Given the description of an element on the screen output the (x, y) to click on. 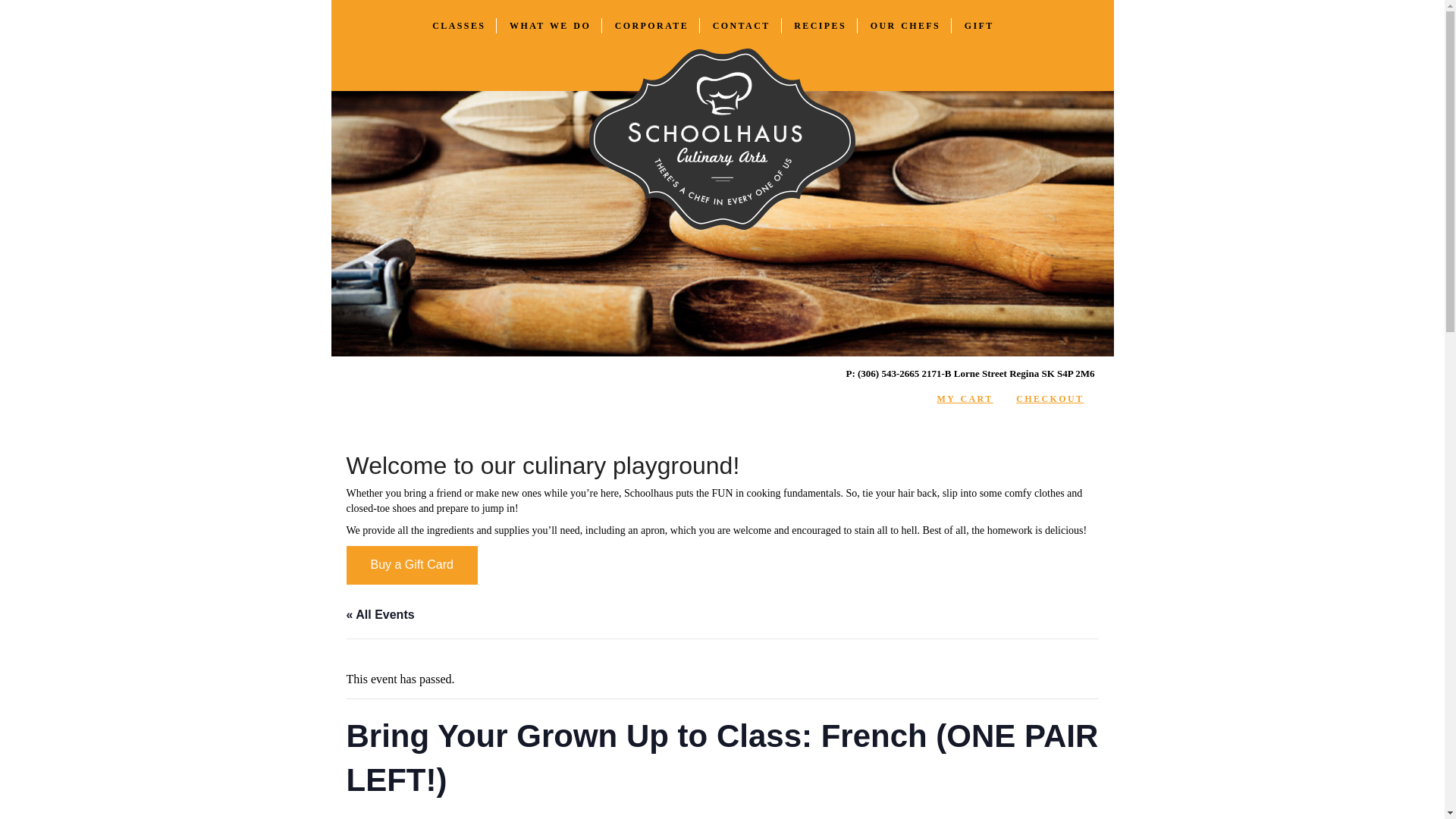
RECIPES (825, 25)
CORPORATE (657, 25)
CONTACT (747, 25)
MY CART (970, 398)
OUR CHEFS (911, 25)
CHECKOUT (1055, 398)
WHAT WE DO (555, 25)
GIFT (983, 25)
Buy a Gift Card (411, 565)
CLASSES (464, 25)
